Given the description of an element on the screen output the (x, y) to click on. 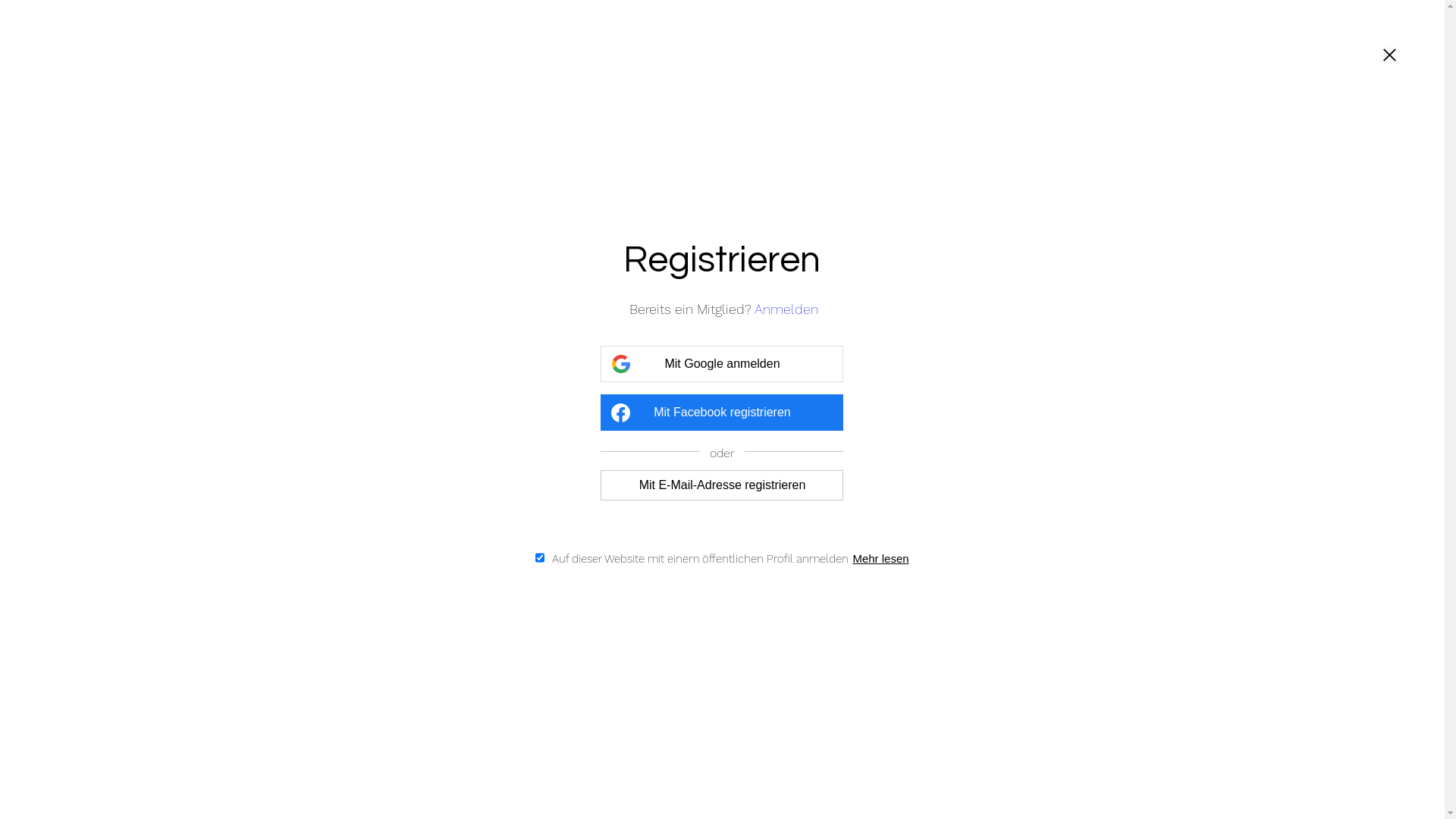
Mit Google anmelden Element type: text (721, 363)
Mit Facebook registrieren Element type: text (721, 412)
Anmelden Element type: text (786, 309)
Mit E-Mail-Adresse registrieren Element type: text (721, 485)
Mehr lesen Element type: text (878, 558)
